Given the description of an element on the screen output the (x, y) to click on. 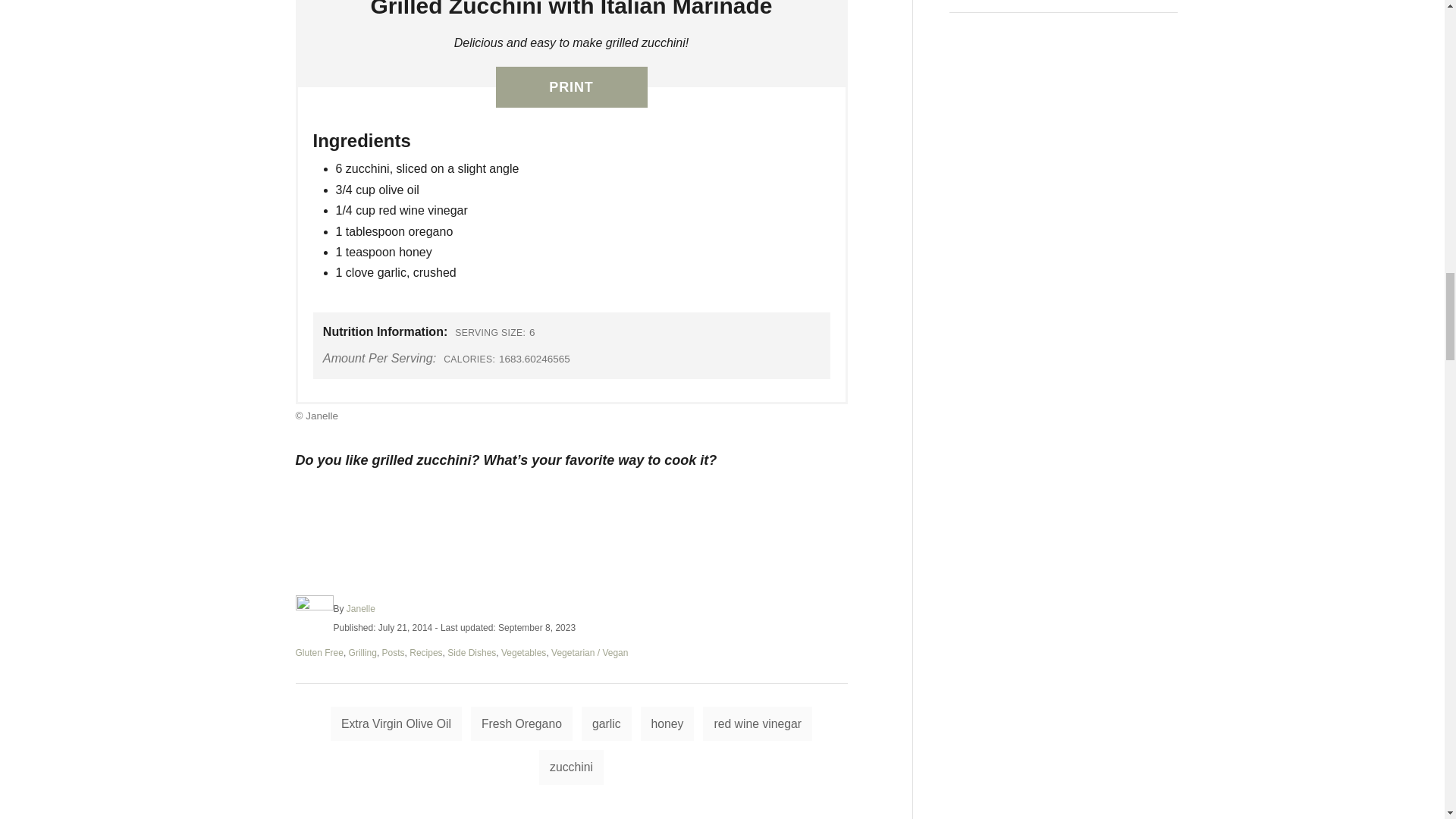
PRINT (571, 86)
Fresh Oregano (521, 724)
Gluten Free (319, 652)
red wine vinegar (757, 724)
Posts (392, 652)
Extra Virgin Olive Oil (395, 724)
Grilling (363, 652)
Vegetables (523, 652)
garlic (605, 724)
zucchini (571, 767)
Recipes (425, 652)
Janelle (360, 608)
honey (667, 724)
Side Dishes (471, 652)
